Given the description of an element on the screen output the (x, y) to click on. 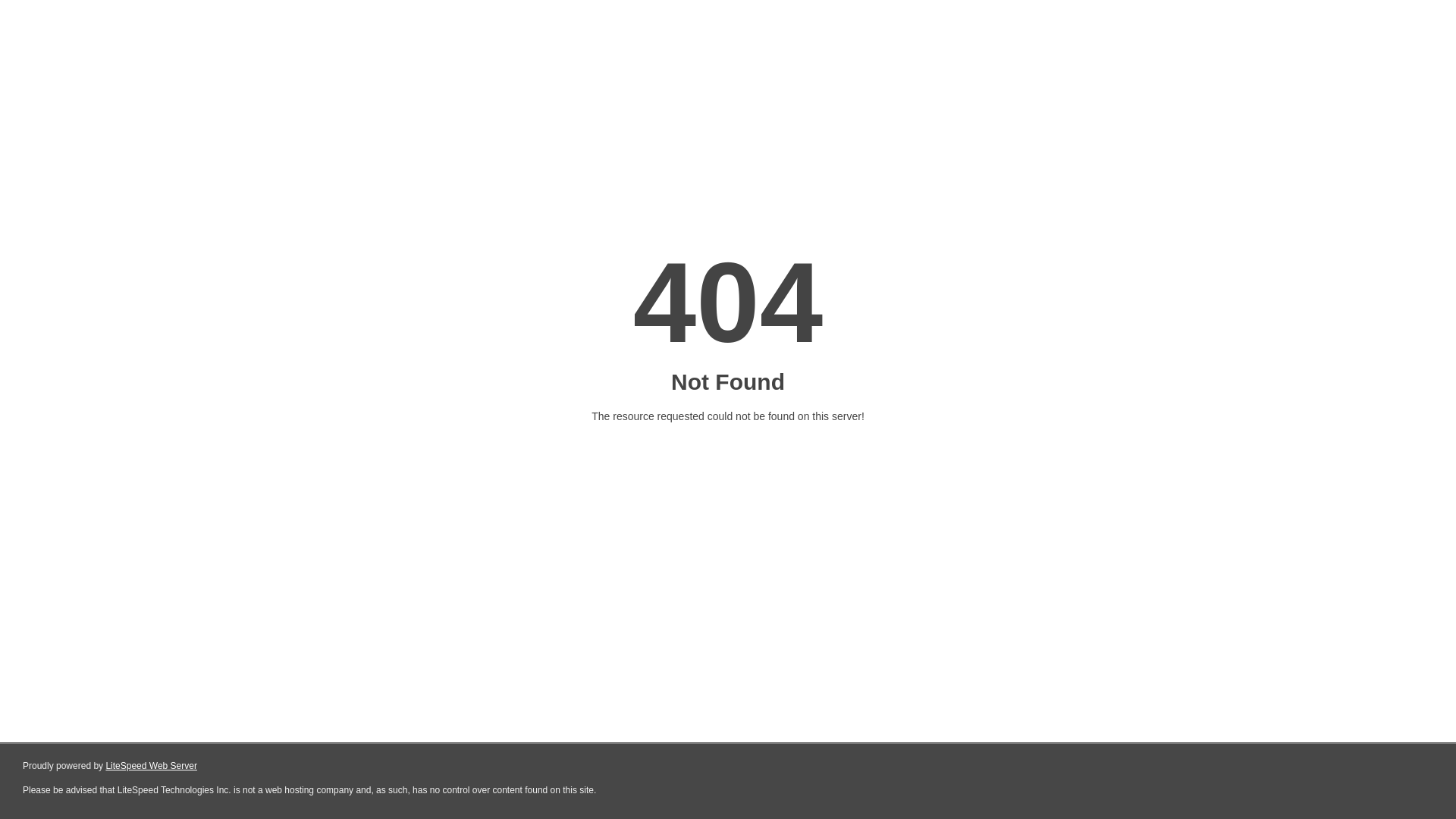
LiteSpeed Web Server Element type: text (151, 765)
